Given the description of an element on the screen output the (x, y) to click on. 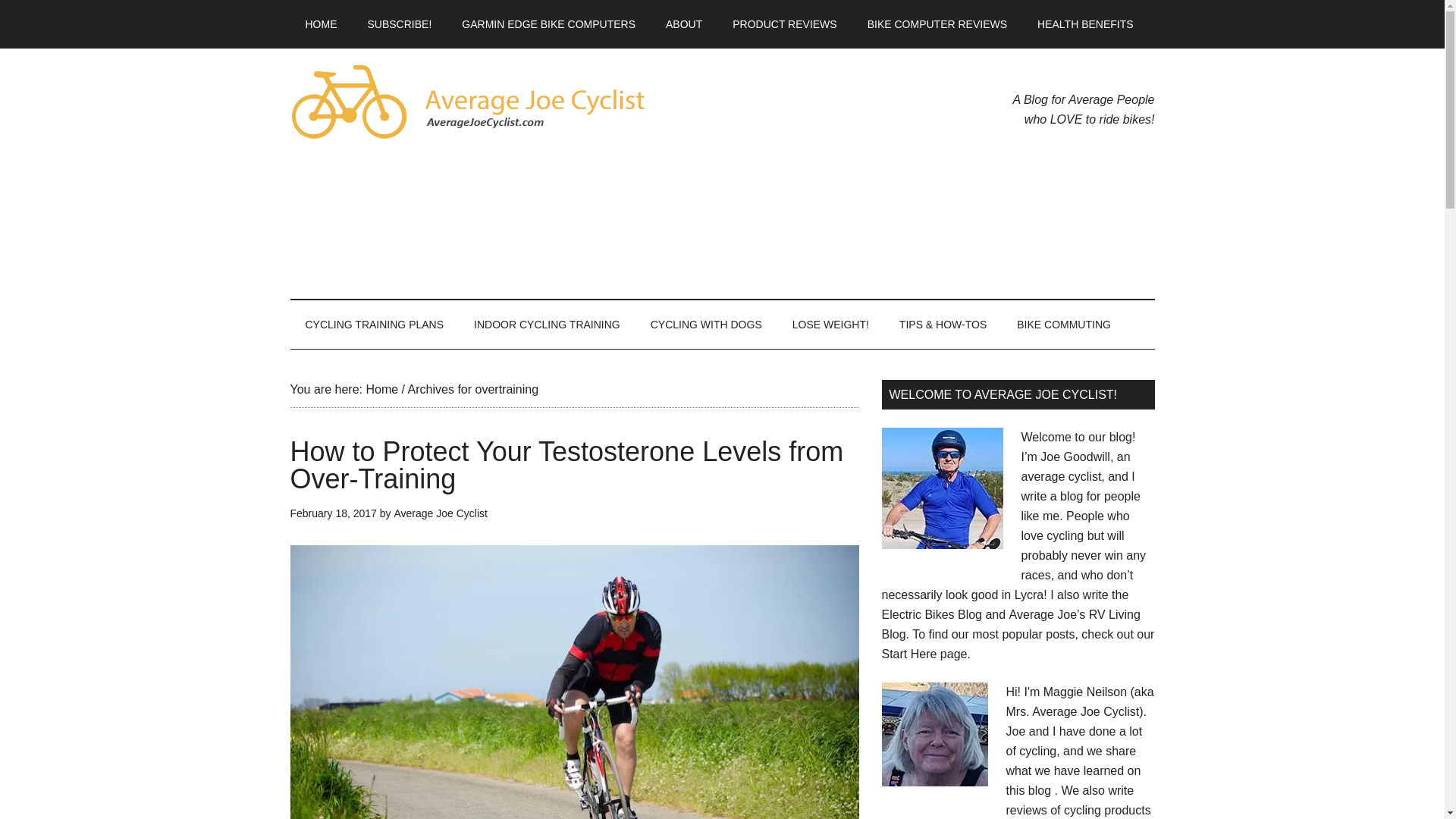
HOME (320, 24)
GARMIN EDGE BIKE COMPUTERS (548, 24)
PRODUCT REVIEWS (784, 24)
ABOUT (683, 24)
SUBSCRIBE! (399, 24)
